Given the description of an element on the screen output the (x, y) to click on. 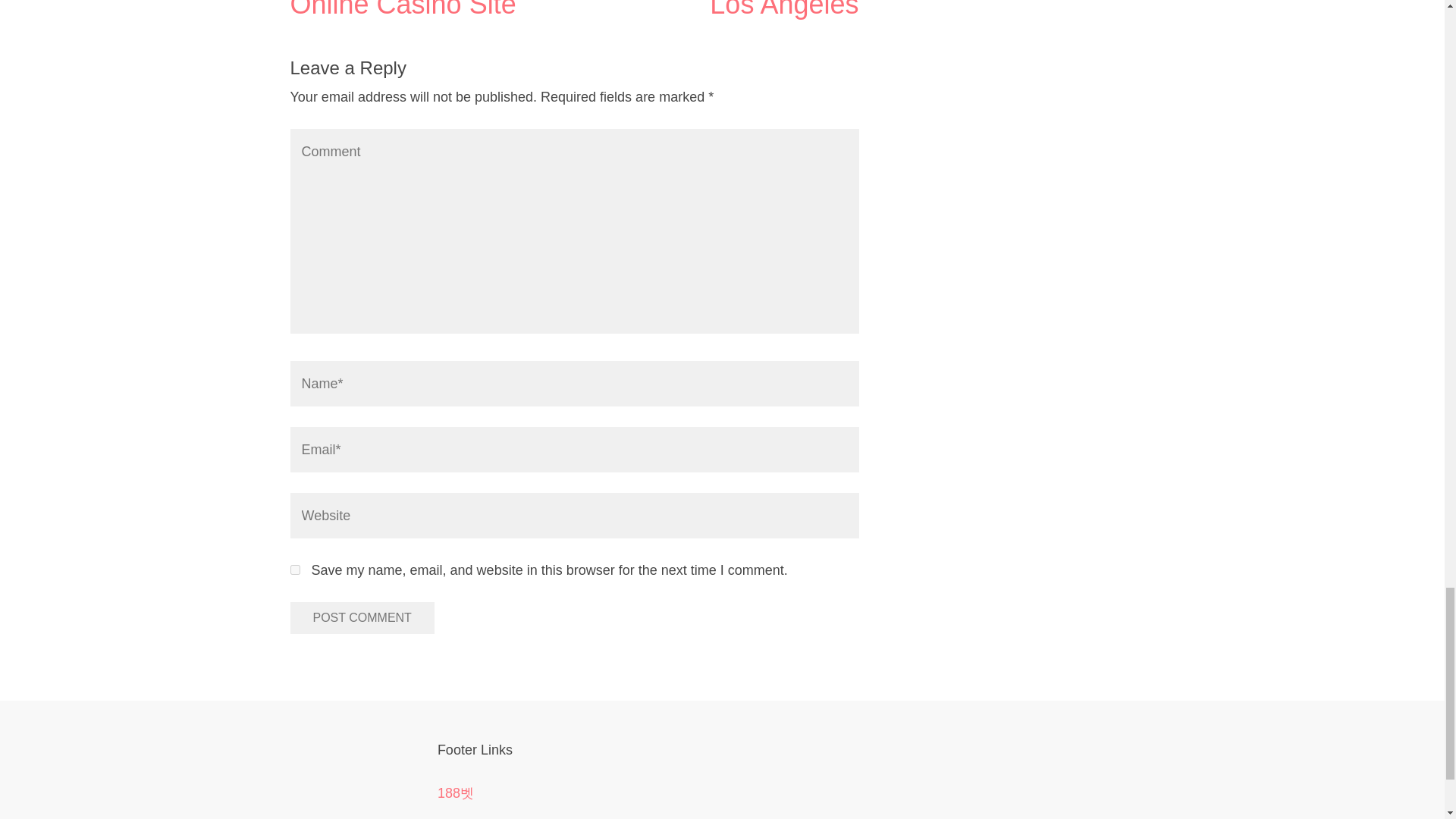
yes (294, 569)
Post Comment (361, 617)
Post Comment (361, 617)
Play Casino Video Games At 21 Couk Online Casino Site (431, 9)
